Given the description of an element on the screen output the (x, y) to click on. 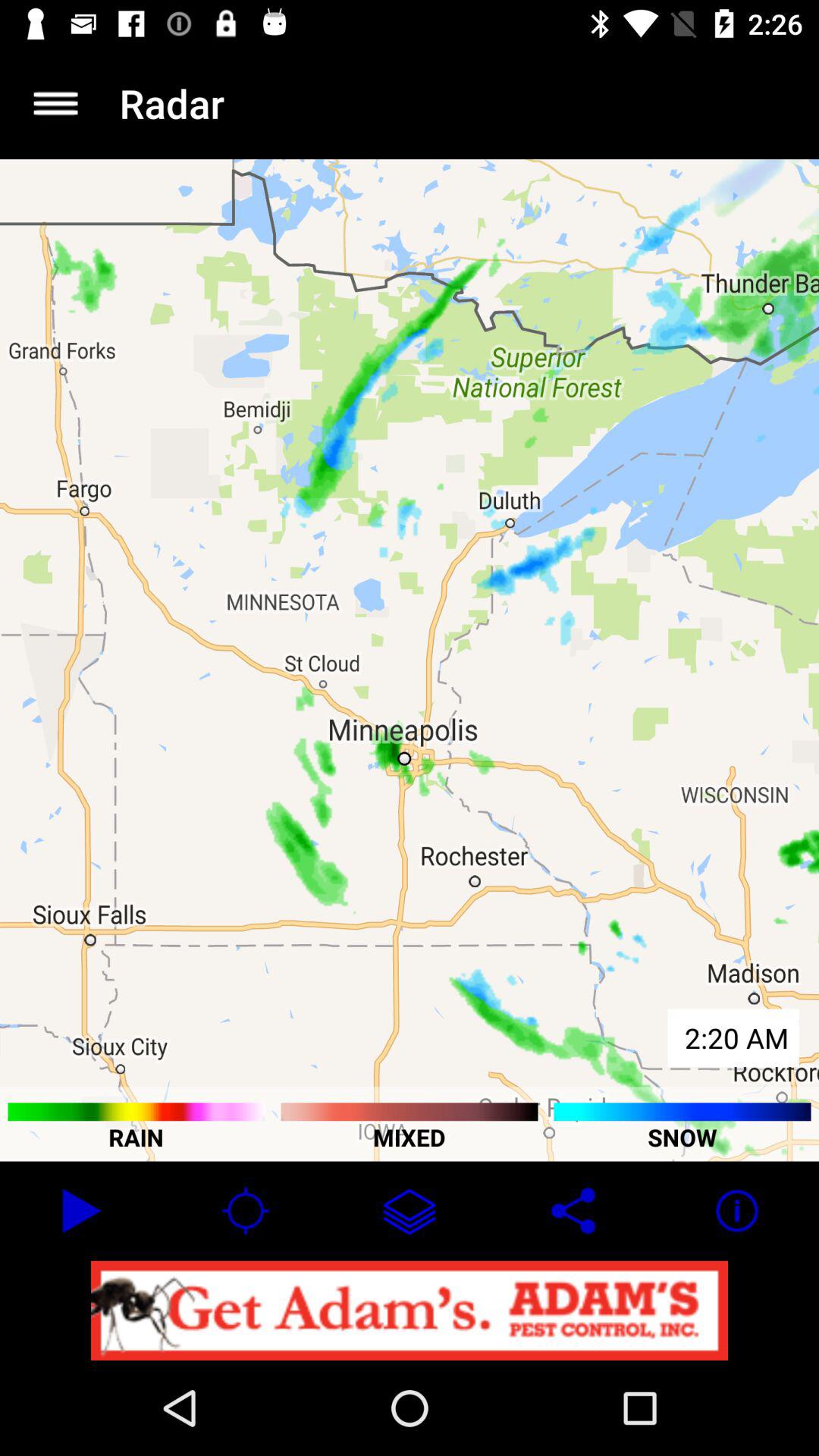
click advertisement (409, 1310)
